Given the description of an element on the screen output the (x, y) to click on. 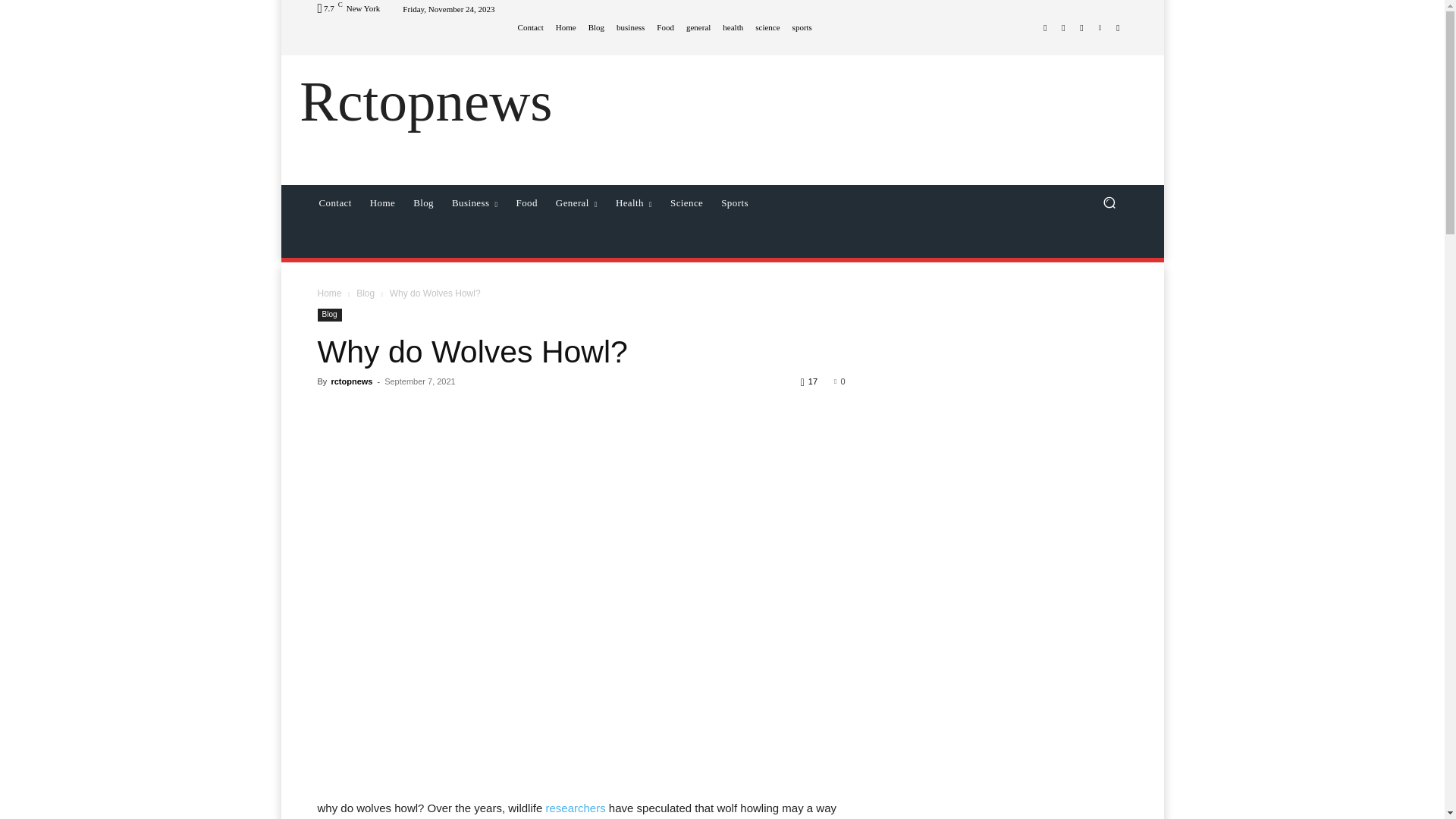
Home (566, 27)
general (697, 27)
sports (802, 27)
Twitter (1080, 27)
Food (665, 27)
Vimeo (1099, 27)
science (766, 27)
Facebook (1044, 27)
View all posts in Blog (365, 293)
Blog (596, 27)
health (732, 27)
Instagram (1062, 27)
Youtube (1117, 27)
business (630, 27)
Contact (530, 27)
